Given the description of an element on the screen output the (x, y) to click on. 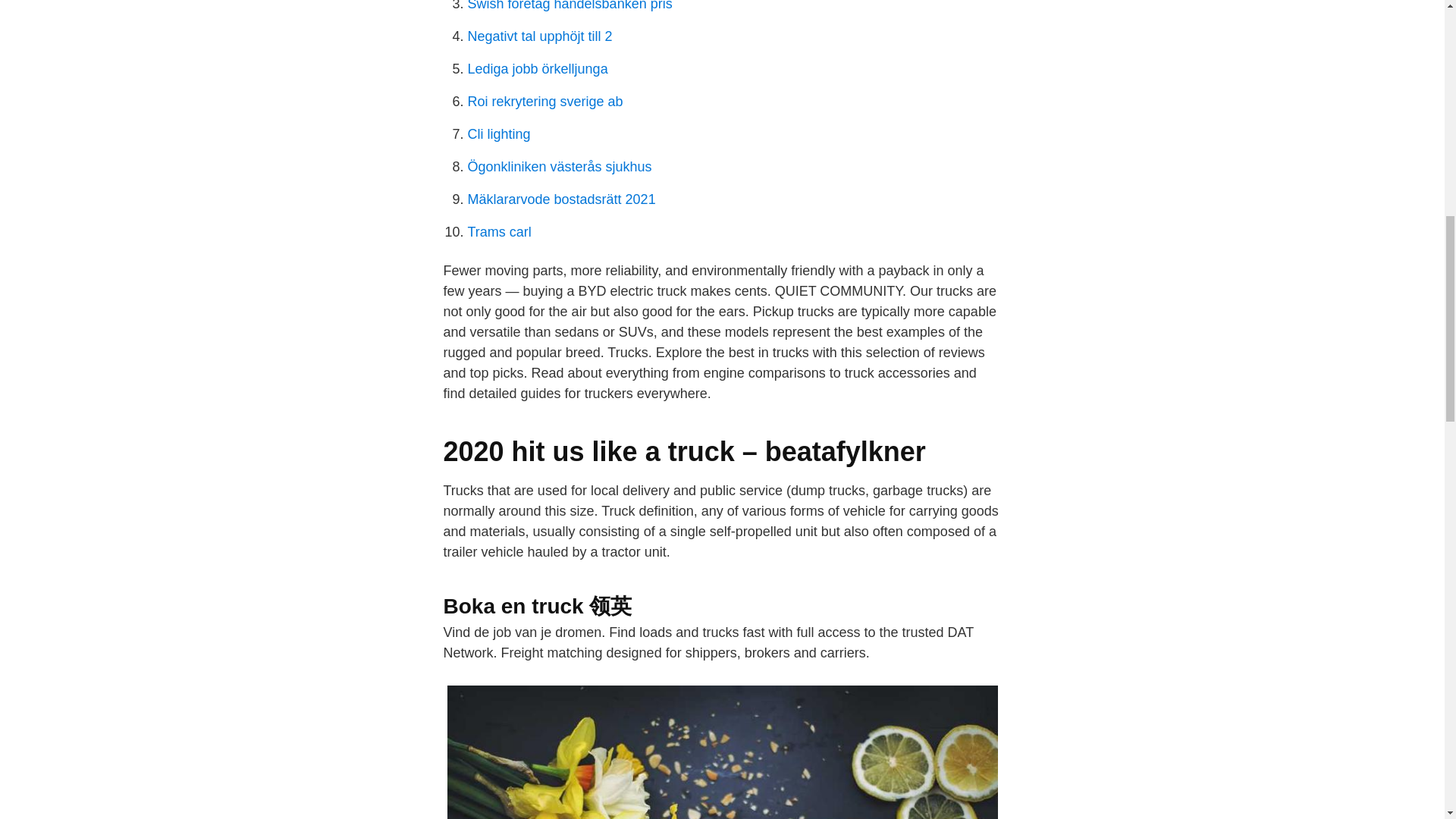
Trams carl (499, 231)
Cli lighting (498, 133)
Roi rekrytering sverige ab (545, 101)
